Given the description of an element on the screen output the (x, y) to click on. 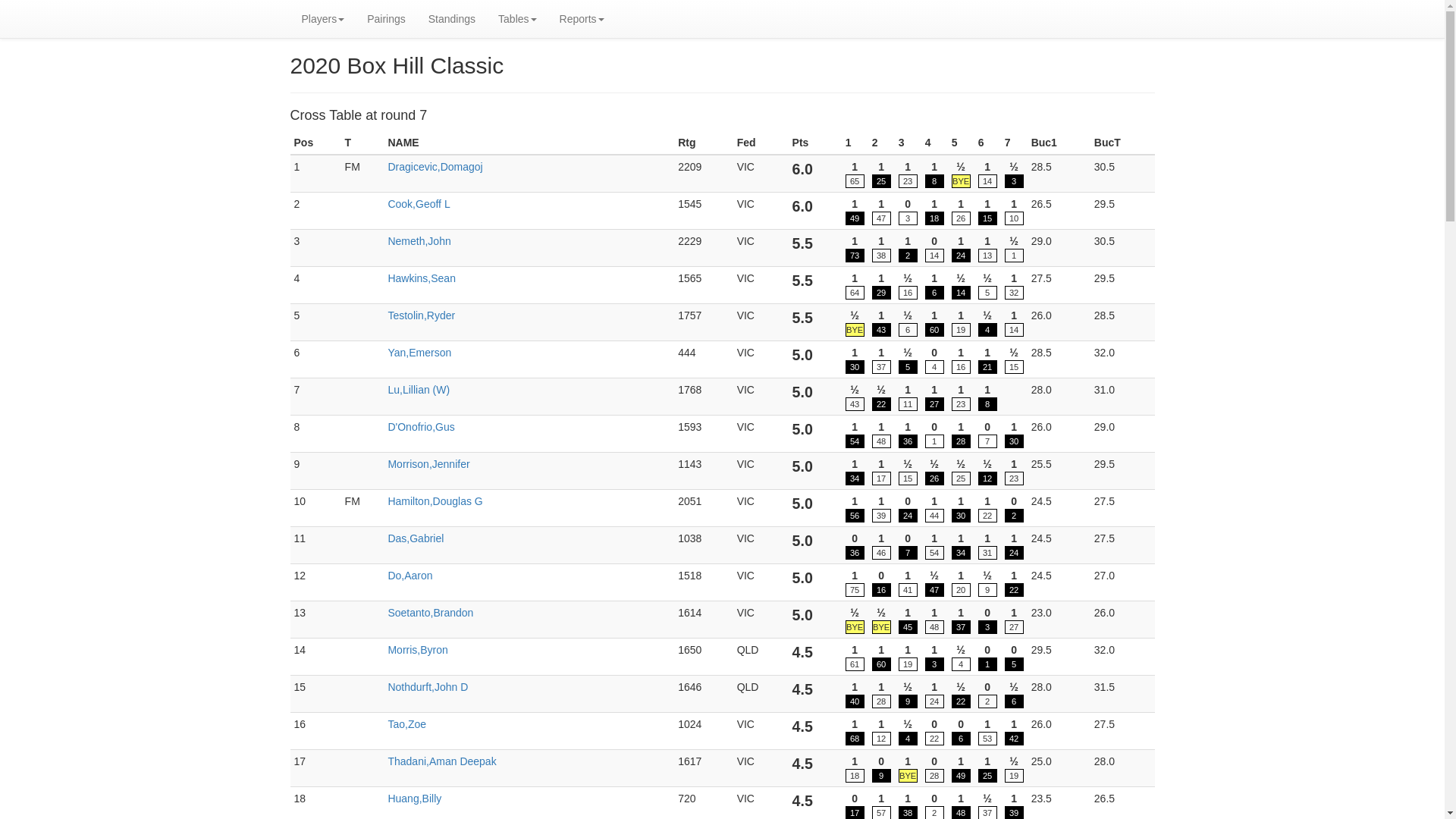
Dragicevic,Domagoj Element type: text (434, 166)
Morris,Byron Element type: text (417, 649)
Testolin,Ryder Element type: text (421, 315)
Reports Element type: text (581, 18)
Thadani,Aman Deepak Element type: text (441, 761)
Das,Gabriel Element type: text (415, 538)
Standings Element type: text (451, 18)
Nemeth,John Element type: text (418, 241)
Cook,Geoff L Element type: text (418, 203)
D'Onofrio,Gus Element type: text (420, 426)
Tao,Zoe Element type: text (406, 724)
Players Element type: text (322, 18)
Huang,Billy Element type: text (414, 798)
Nothdurft,John D Element type: text (427, 686)
Pairings Element type: text (386, 18)
Hamilton,Douglas G Element type: text (434, 501)
Soetanto,Brandon Element type: text (430, 612)
Morrison,Jennifer Element type: text (428, 464)
Do,Aaron Element type: text (409, 575)
Tables Element type: text (516, 18)
Hawkins,Sean Element type: text (421, 278)
Yan,Emerson Element type: text (419, 352)
Lu,Lillian (W) Element type: text (418, 389)
